Given the description of an element on the screen output the (x, y) to click on. 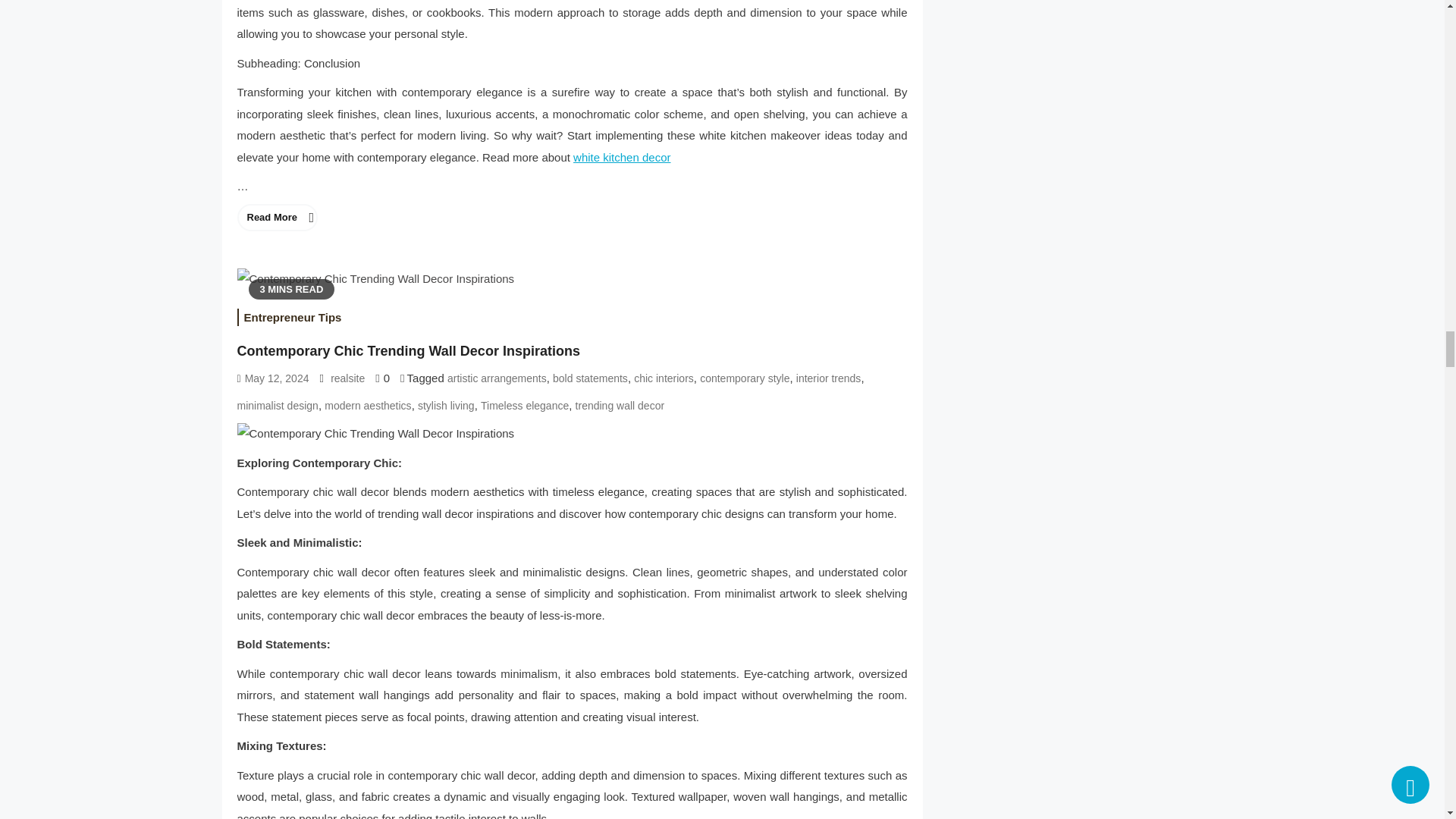
Contemporary Chic Trending Wall Decor Inspirations (571, 434)
Contemporary Chic Trending Wall Decor Inspirations (374, 278)
